Given the description of an element on the screen output the (x, y) to click on. 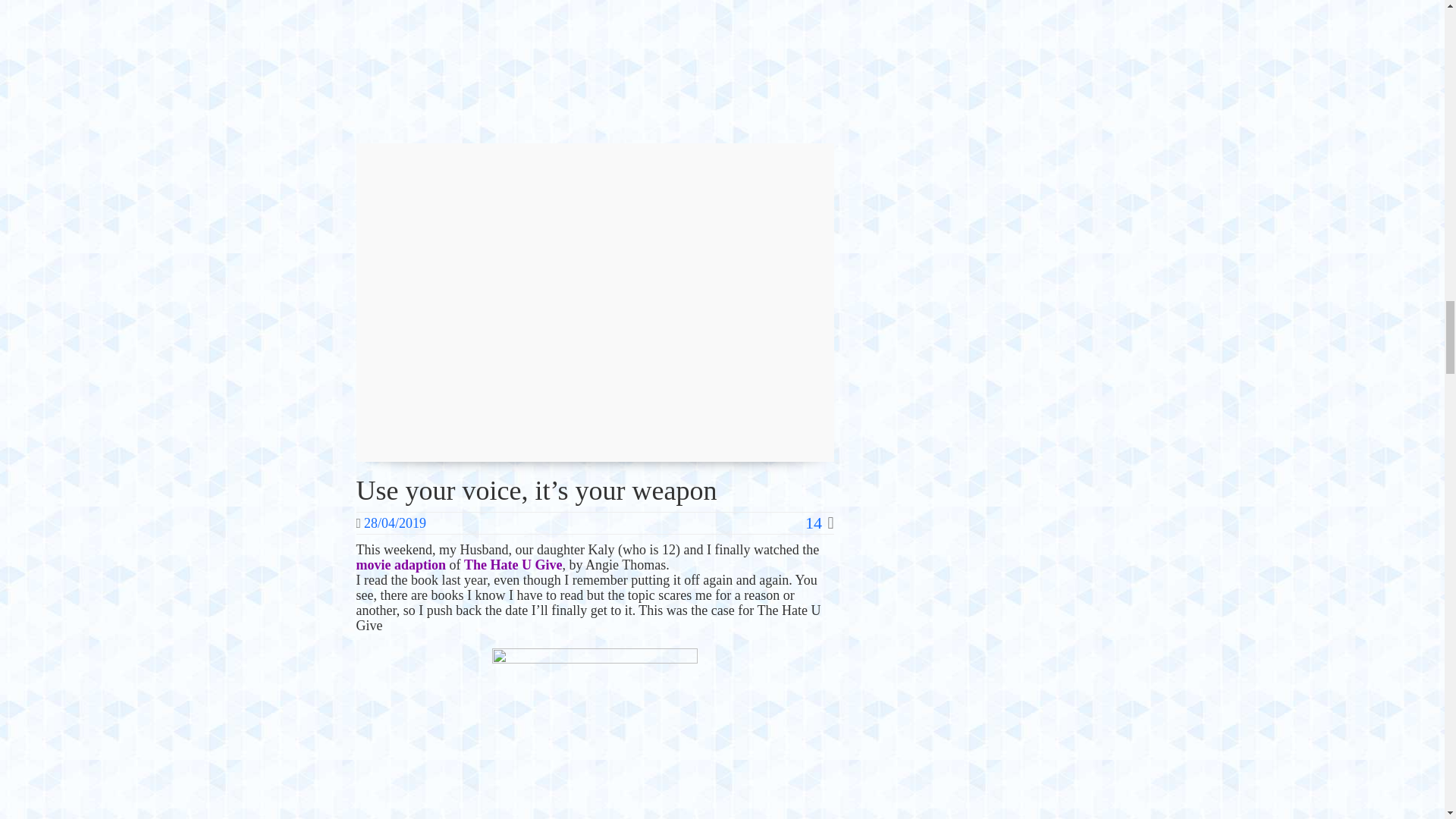
The Hate U Give (513, 564)
14 (819, 522)
movie adaption (401, 564)
